Given the description of an element on the screen output the (x, y) to click on. 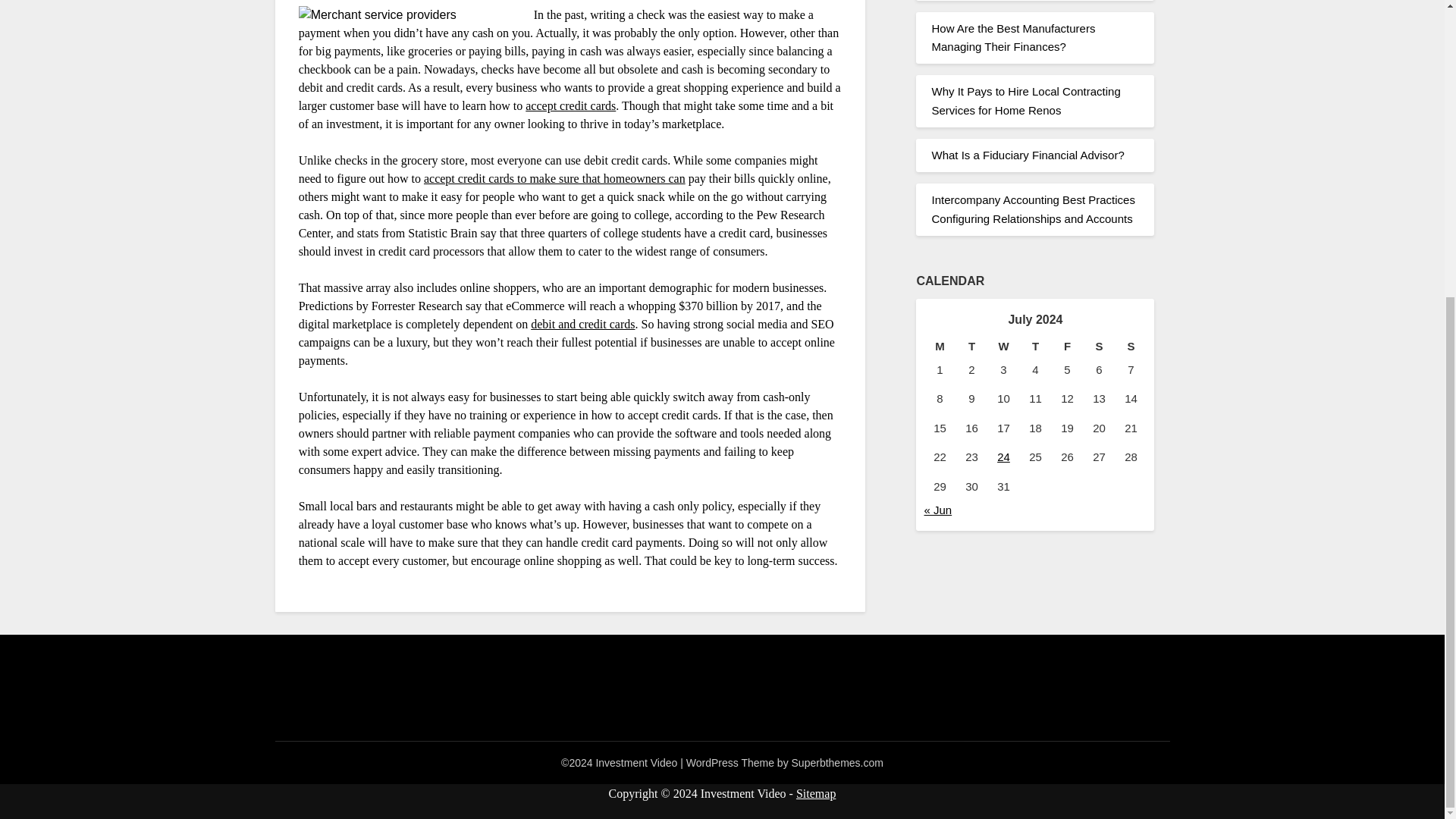
accept credit cards to make sure that homeowners can (554, 178)
Superbthemes.com (837, 762)
Sitemap (815, 793)
Sunday (1131, 346)
How Are the Best Manufacturers Managing Their Finances? (1012, 36)
Wednesday (1003, 346)
How to accept credit cards online (570, 105)
The things I like (554, 178)
Tuesday (971, 346)
Saturday (1099, 346)
Learn more about Payments processing (582, 323)
Monday (939, 346)
Friday (1067, 346)
